Given the description of an element on the screen output the (x, y) to click on. 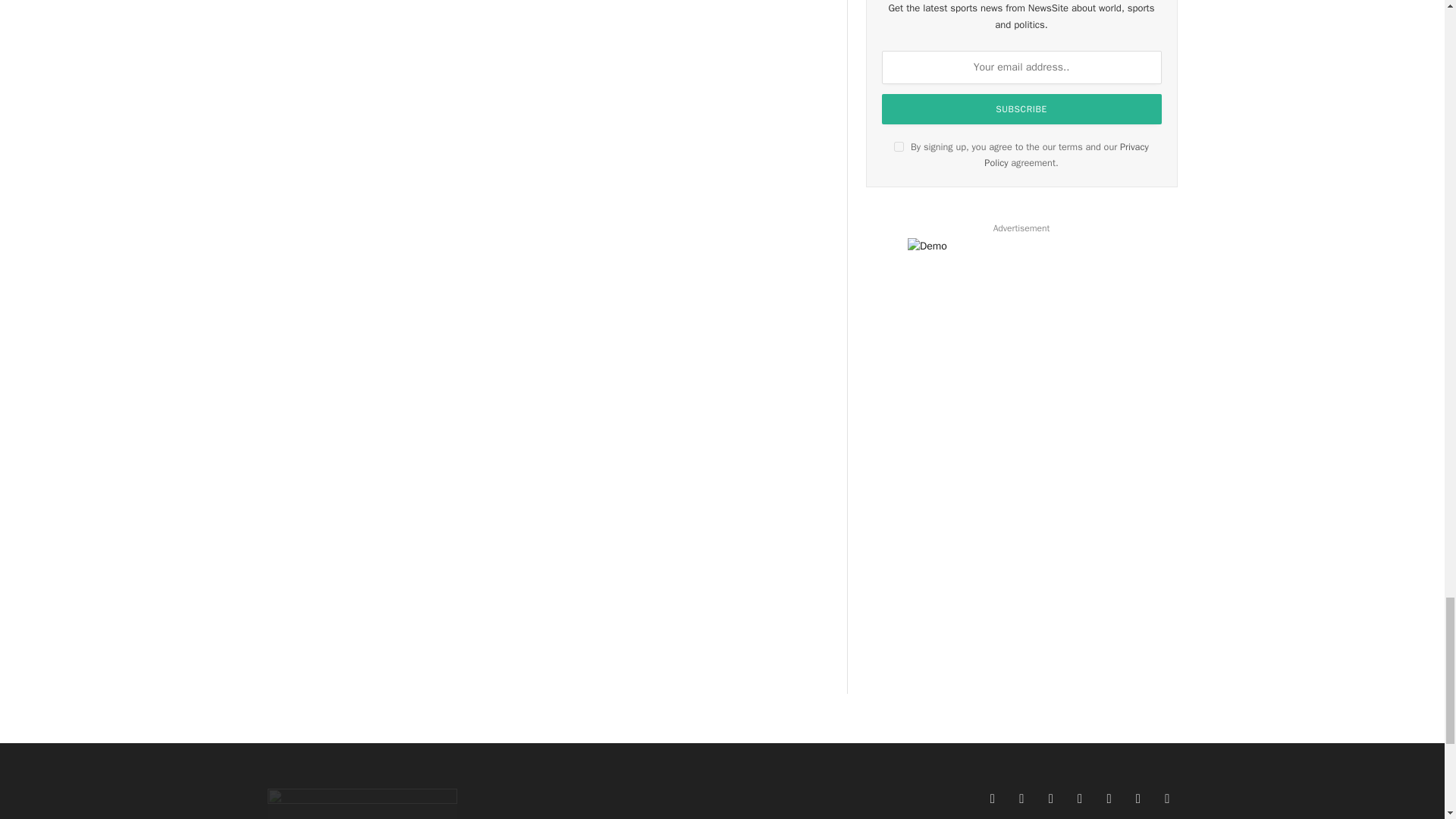
on (898, 146)
Subscribe (1021, 109)
